Given the description of an element on the screen output the (x, y) to click on. 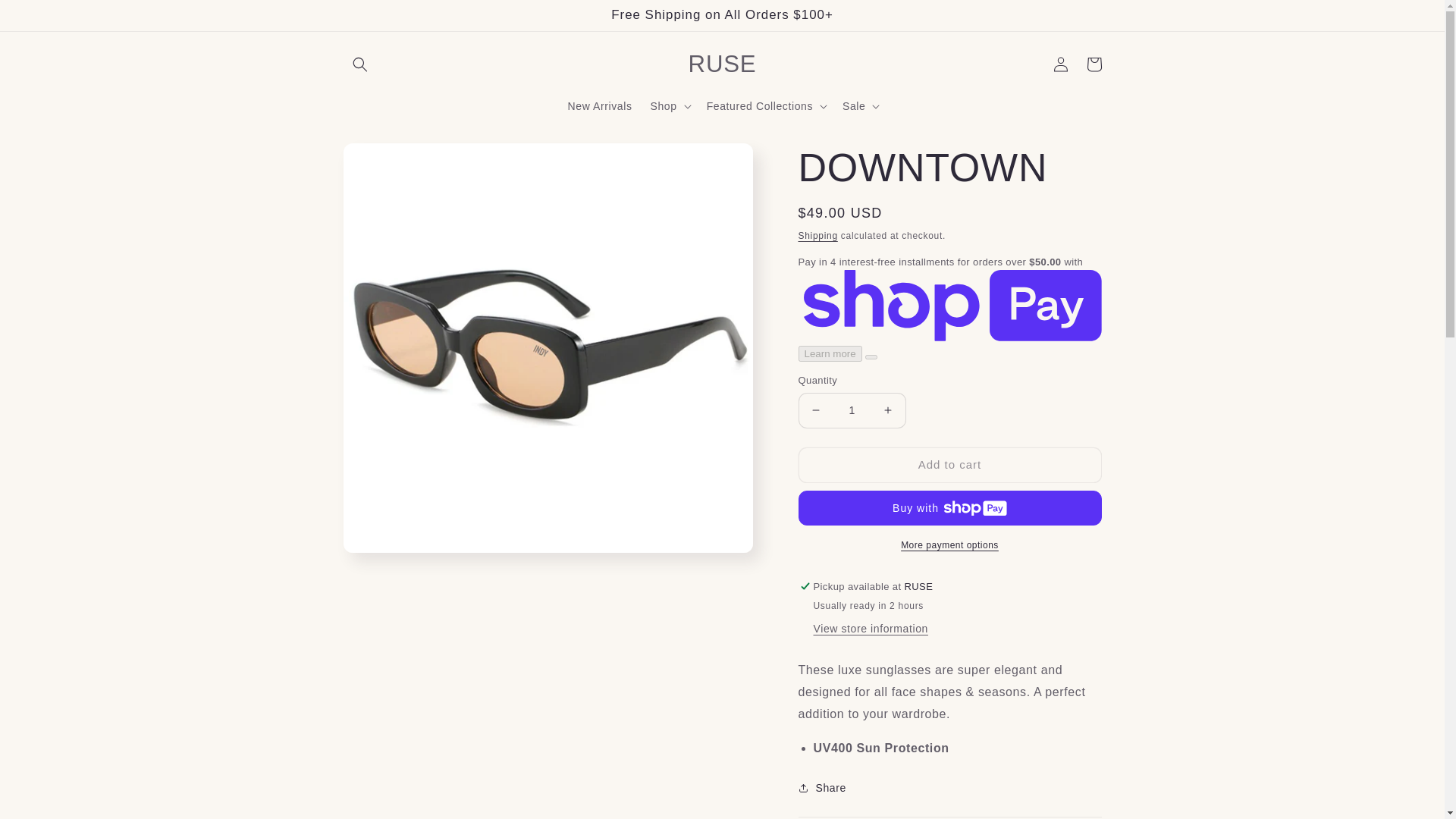
1 (851, 410)
Skip to content (45, 17)
